Given the description of an element on the screen output the (x, y) to click on. 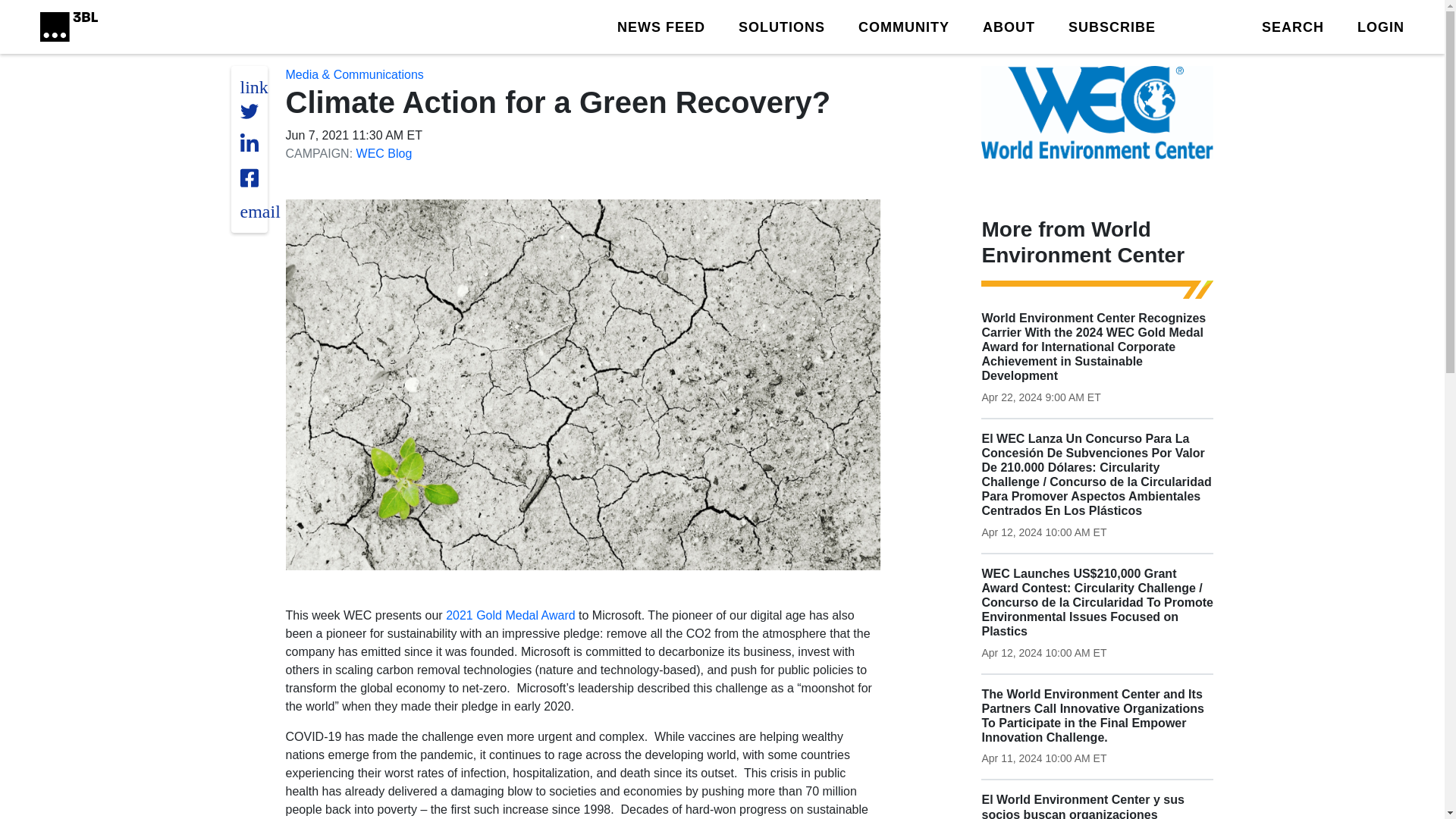
Share via email (259, 211)
ABOUT (1008, 26)
link to 3 B L Media's Twitter (253, 87)
SUBSCRIBE (1112, 26)
SOLUTIONS (781, 26)
COMMUNITY (904, 26)
NEWS FEED (660, 26)
